Given the description of an element on the screen output the (x, y) to click on. 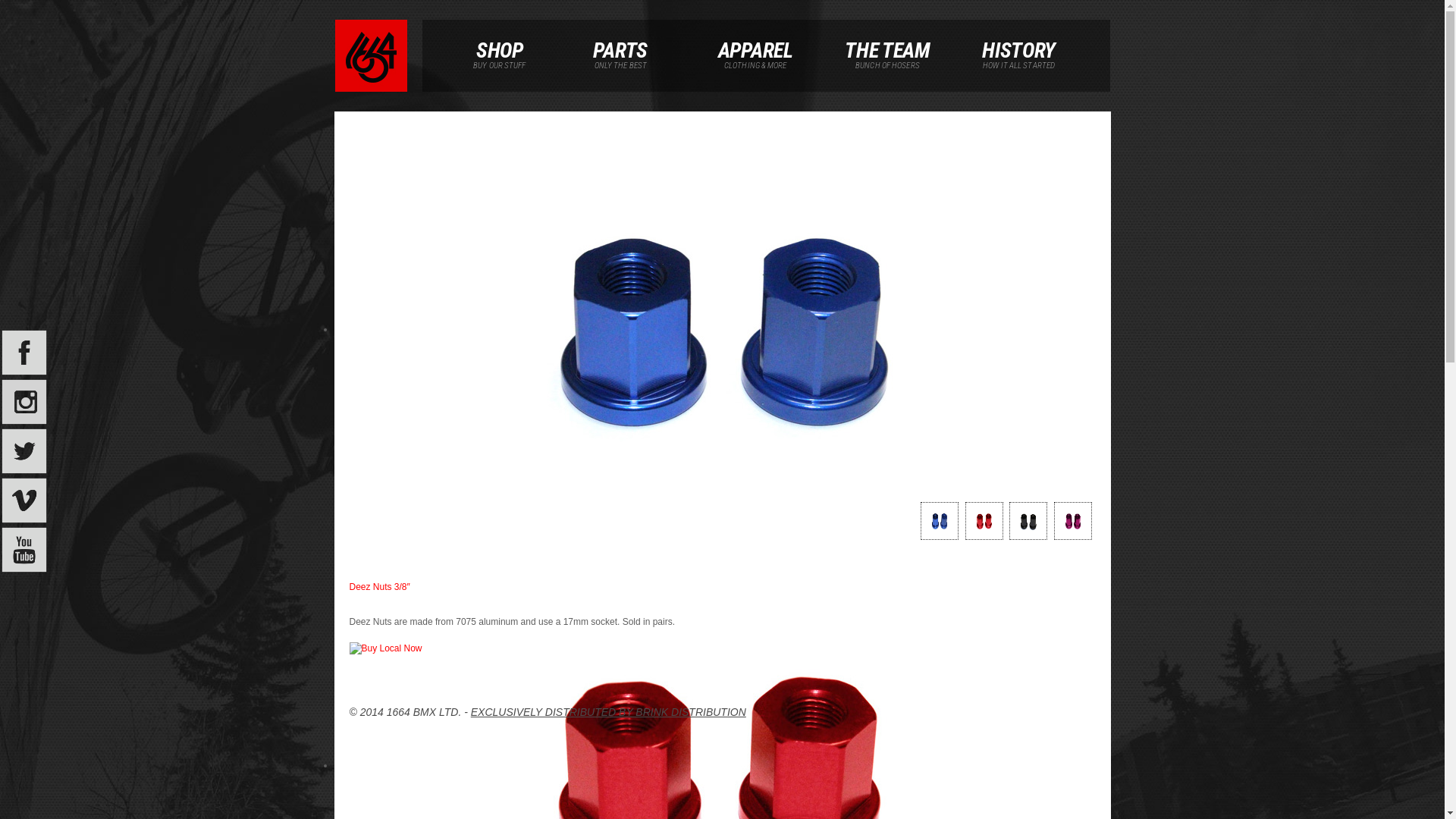
PARTS
ONLY THE BEST Element type: text (620, 39)
1664 BMX Element type: hover (371, 55)
THE TEAM
BUNCH OF HOSERS Element type: text (887, 39)
HISTORY
HOW IT ALL STARTED Element type: text (1019, 39)
Buy Local Now Element type: hover (384, 648)
EXCLUSIVELY DISTRIBUTED BY BRINK DISTRIBUTION Element type: text (608, 712)
SHOP
BUY OUR STUFF Element type: text (499, 39)
APPAREL
CLOTHING & MORE Element type: text (755, 39)
